Given the description of an element on the screen output the (x, y) to click on. 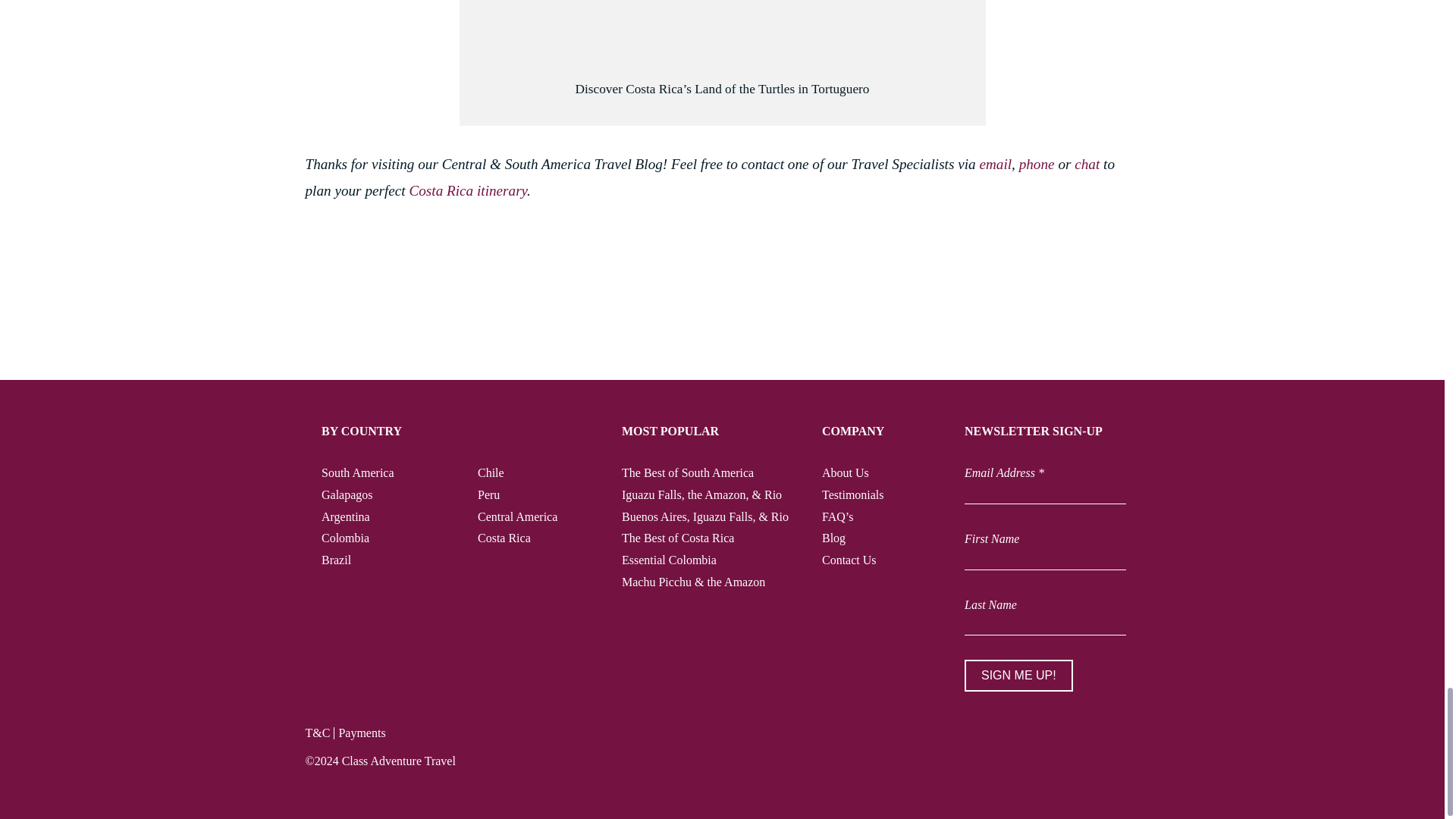
Costa Rica Tours (468, 190)
Class Adventure Travel chat (1086, 163)
Class Adventure Travel contact form (994, 163)
Sign Me Up! (1018, 675)
Class Adventure Travel phone (1036, 163)
